Given the description of an element on the screen output the (x, y) to click on. 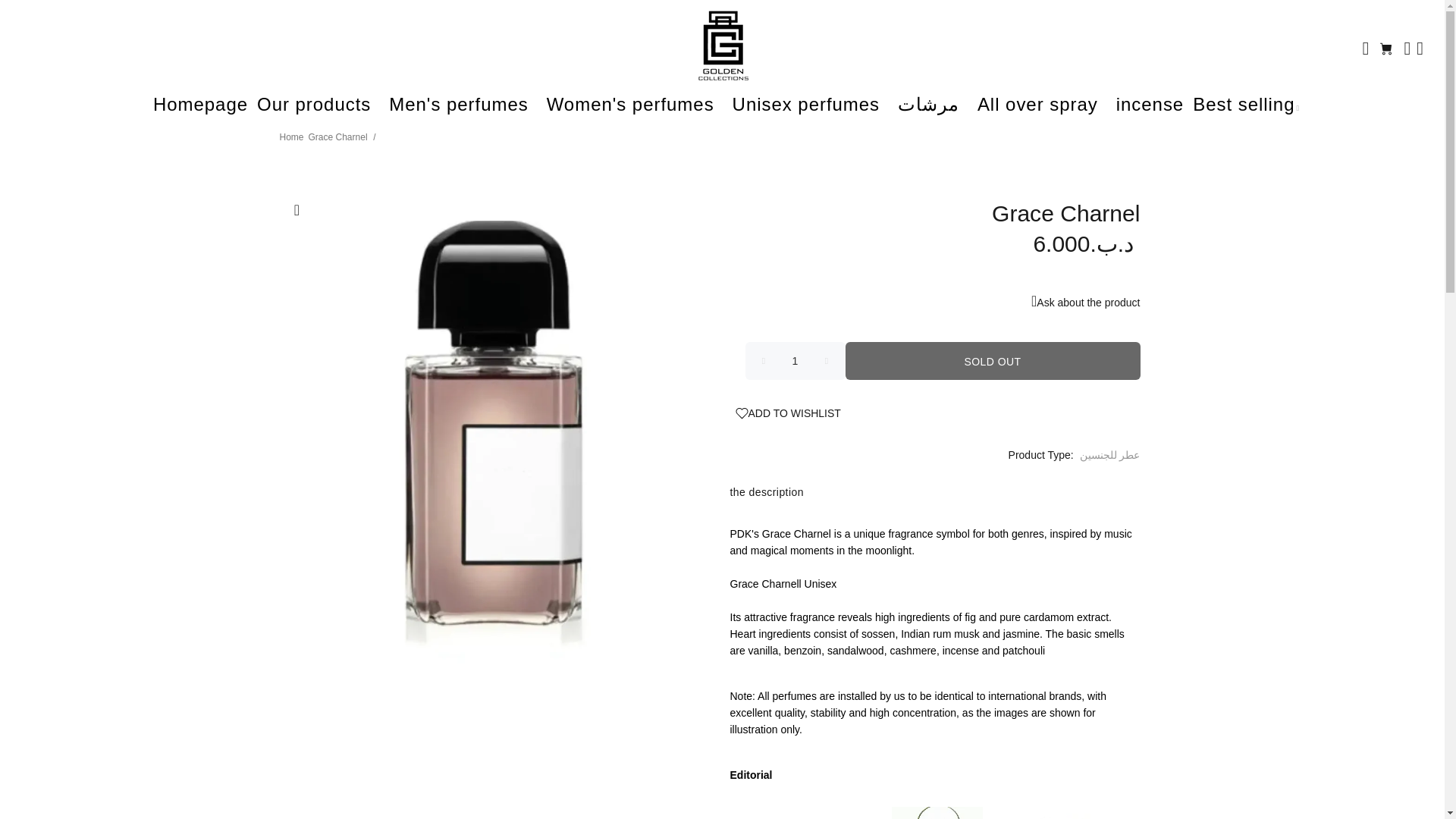
Homepage (195, 106)
1 (794, 361)
